Given the description of an element on the screen output the (x, y) to click on. 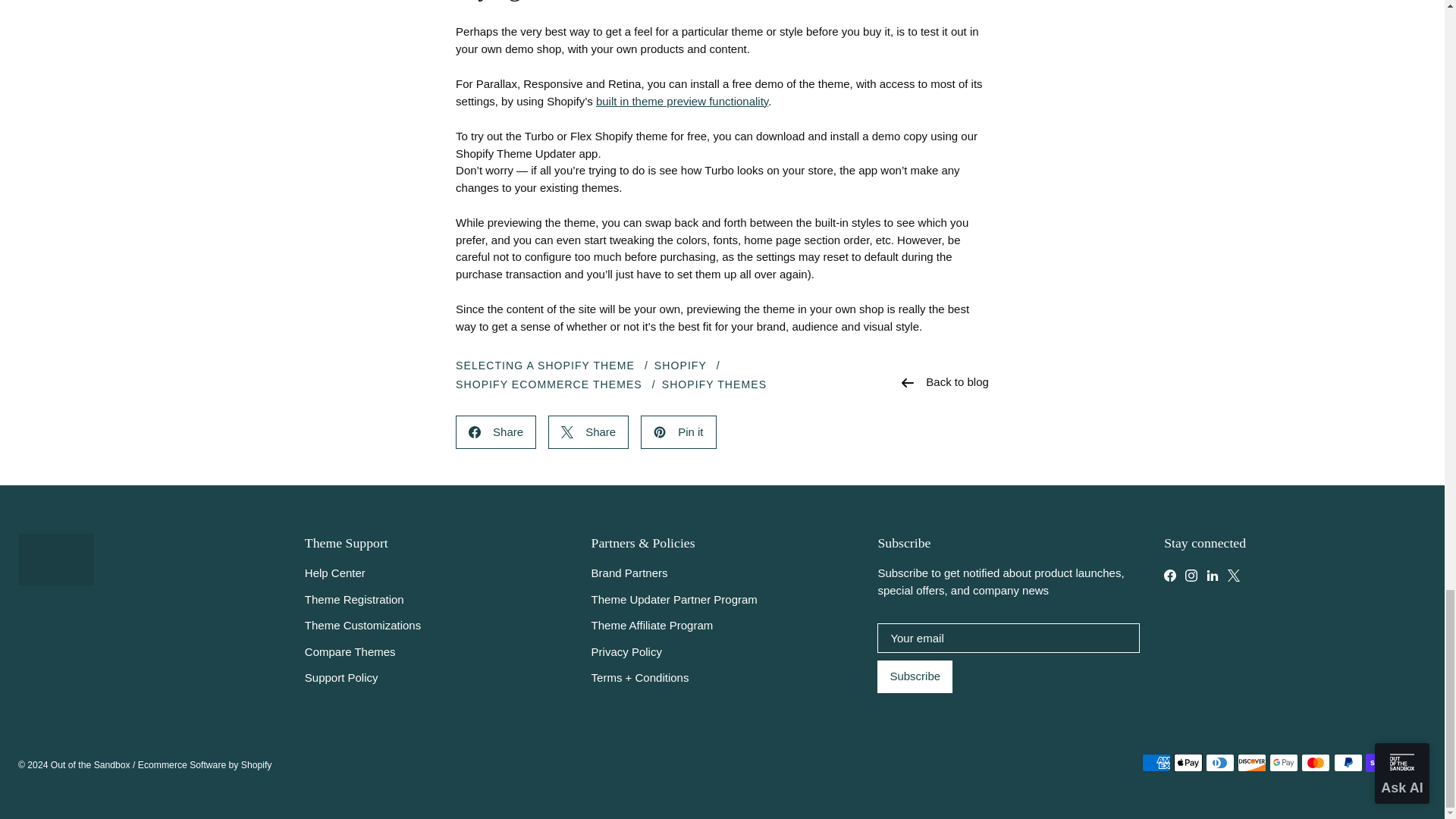
Visa (1411, 762)
Show articles tagged Shopify (679, 365)
Discover (1251, 762)
Show articles tagged Shopify Themes (714, 384)
Apple Pay (1187, 762)
Shop Pay (1379, 762)
Mastercard (1315, 762)
Google Pay (1283, 762)
Show articles tagged Selecting a Shopify Theme (544, 365)
American Express (1155, 762)
Diners Club (1219, 762)
PayPal (1347, 762)
Show articles tagged Shopify Ecommerce Themes (548, 384)
